Given the description of an element on the screen output the (x, y) to click on. 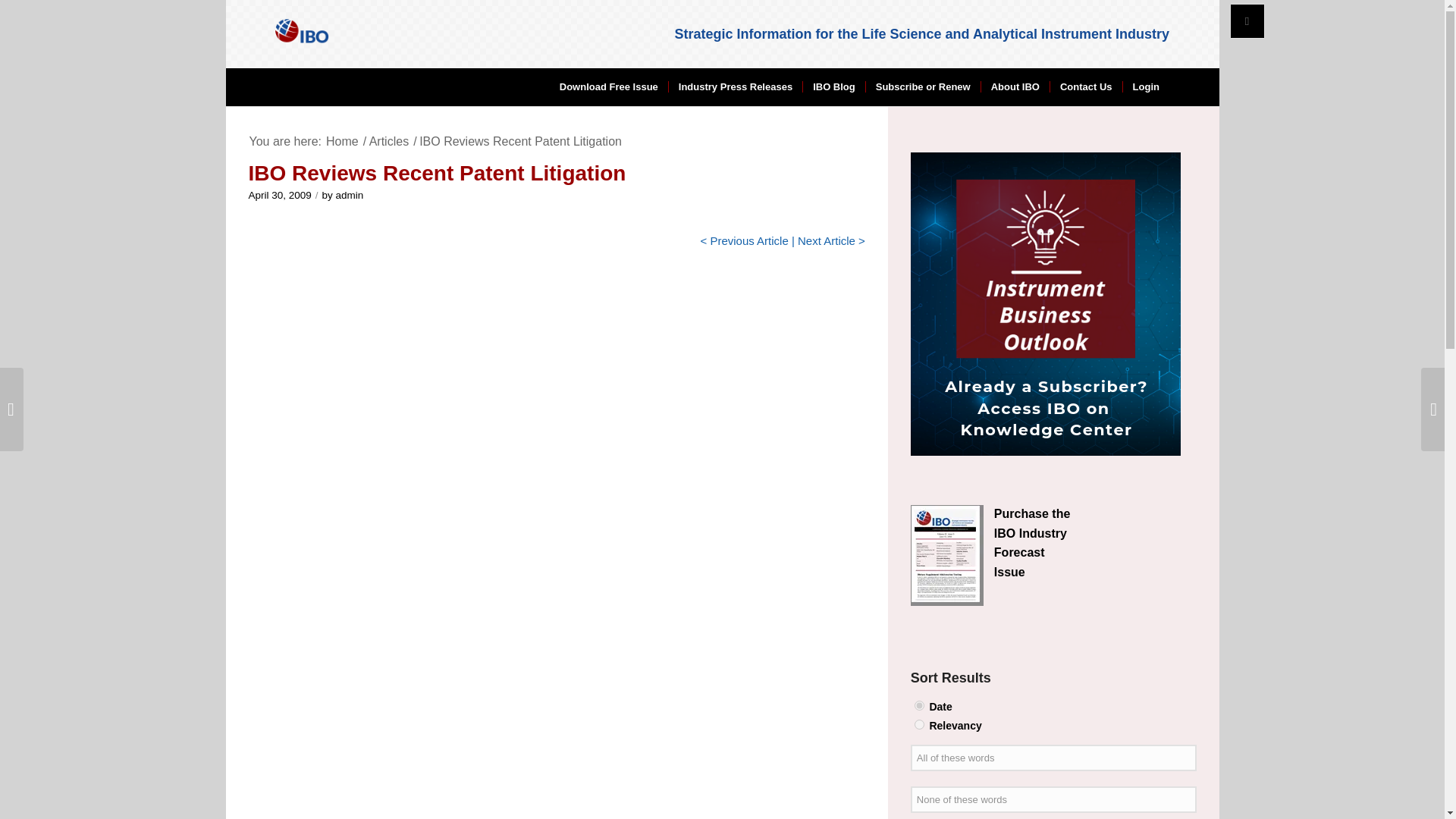
Articles (388, 141)
IBO Blog (833, 86)
admin (350, 194)
Articles (388, 141)
relevancy (919, 724)
Previous Article (748, 240)
date (919, 705)
Posts by admin (350, 194)
Subscribe or Renew (921, 86)
Industry Press Releases (735, 86)
IBO (342, 141)
Home (342, 141)
date (919, 705)
relevancy (919, 724)
Download Free Issue (609, 86)
